Given the description of an element on the screen output the (x, y) to click on. 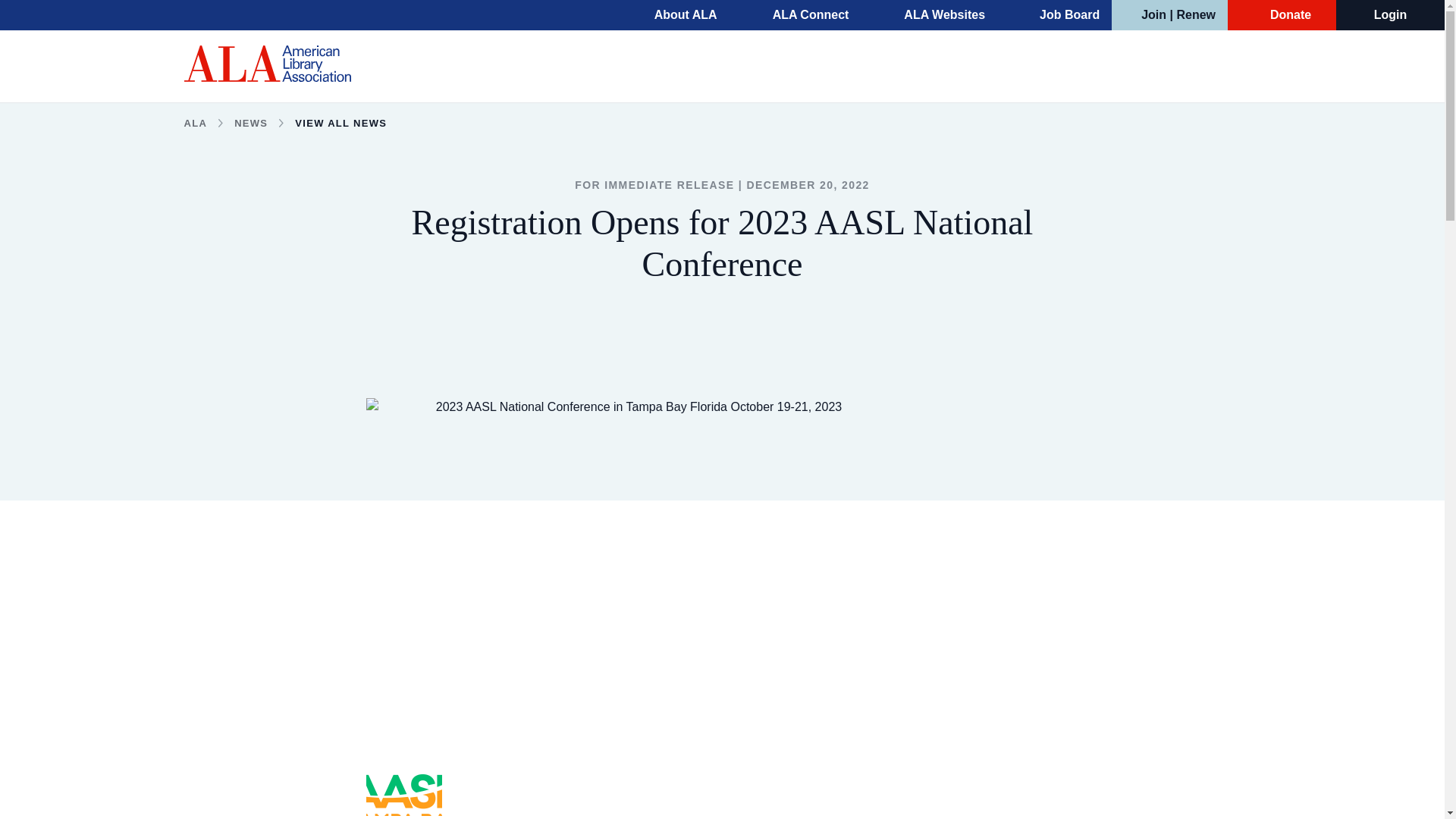
ALA Websites (934, 15)
Login (1390, 15)
About ALA (675, 15)
Job Board (1060, 15)
Login (1390, 15)
ALA Connect (801, 15)
Job Board (1060, 15)
Donate (1281, 15)
About ALA (675, 15)
ALA Websites (934, 15)
ALA Connect (801, 15)
Donate (1281, 15)
